Given the description of an element on the screen output the (x, y) to click on. 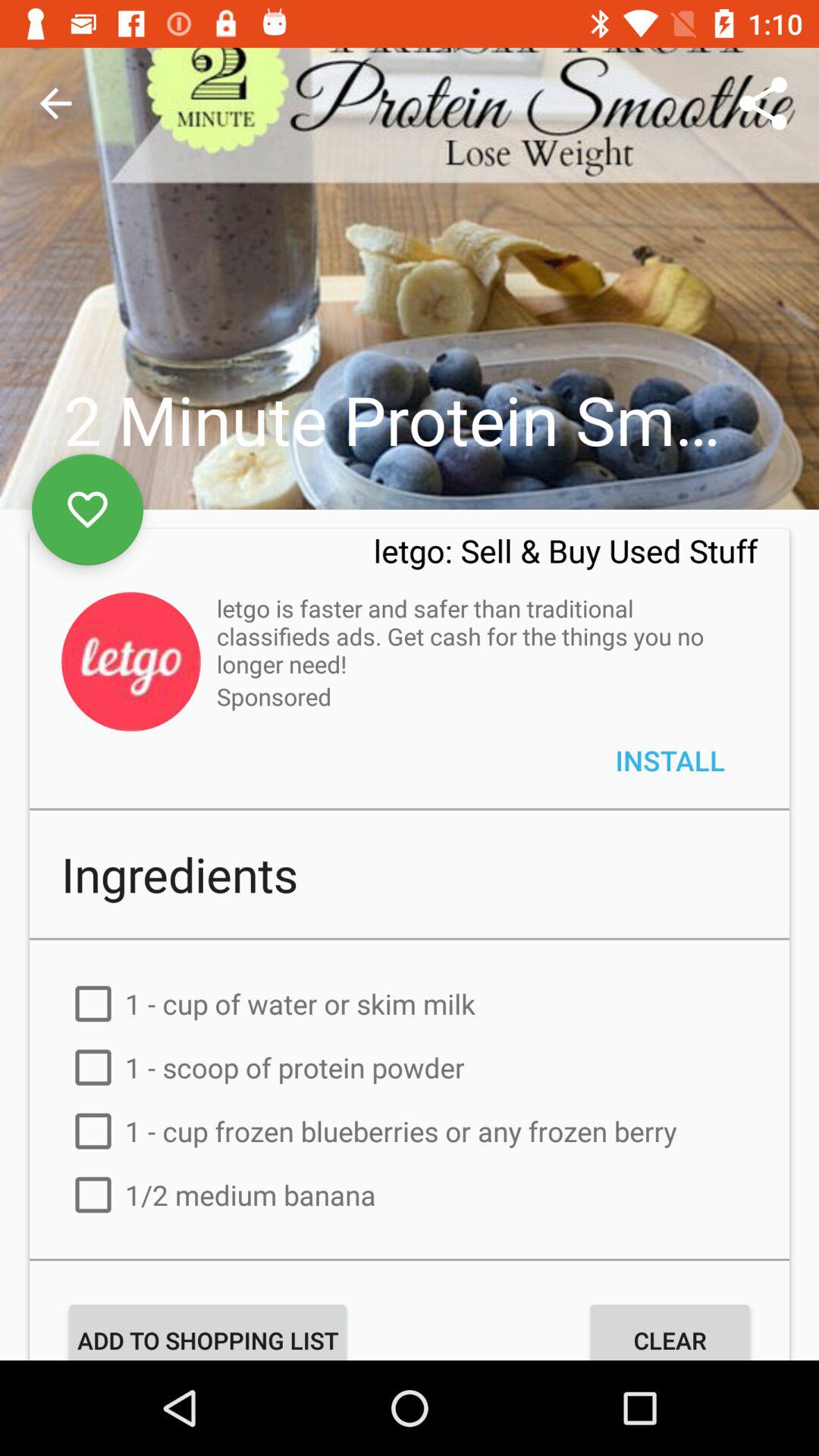
add shopping list (409, 1290)
